Given the description of an element on the screen output the (x, y) to click on. 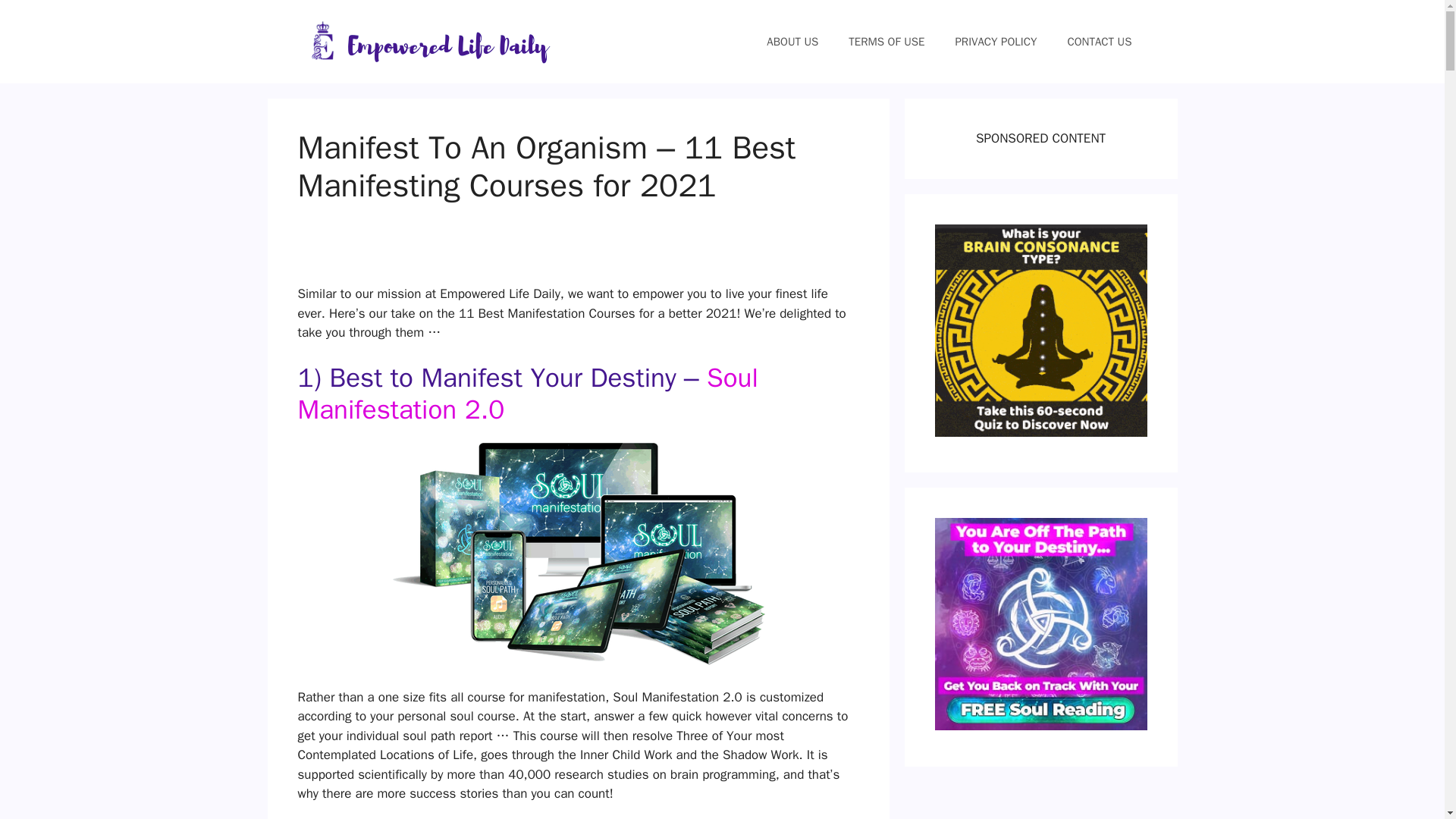
PRIVACY POLICY (995, 41)
CONTACT US (1099, 41)
TERMS OF USE (885, 41)
ABOUT US (791, 41)
